Given the description of an element on the screen output the (x, y) to click on. 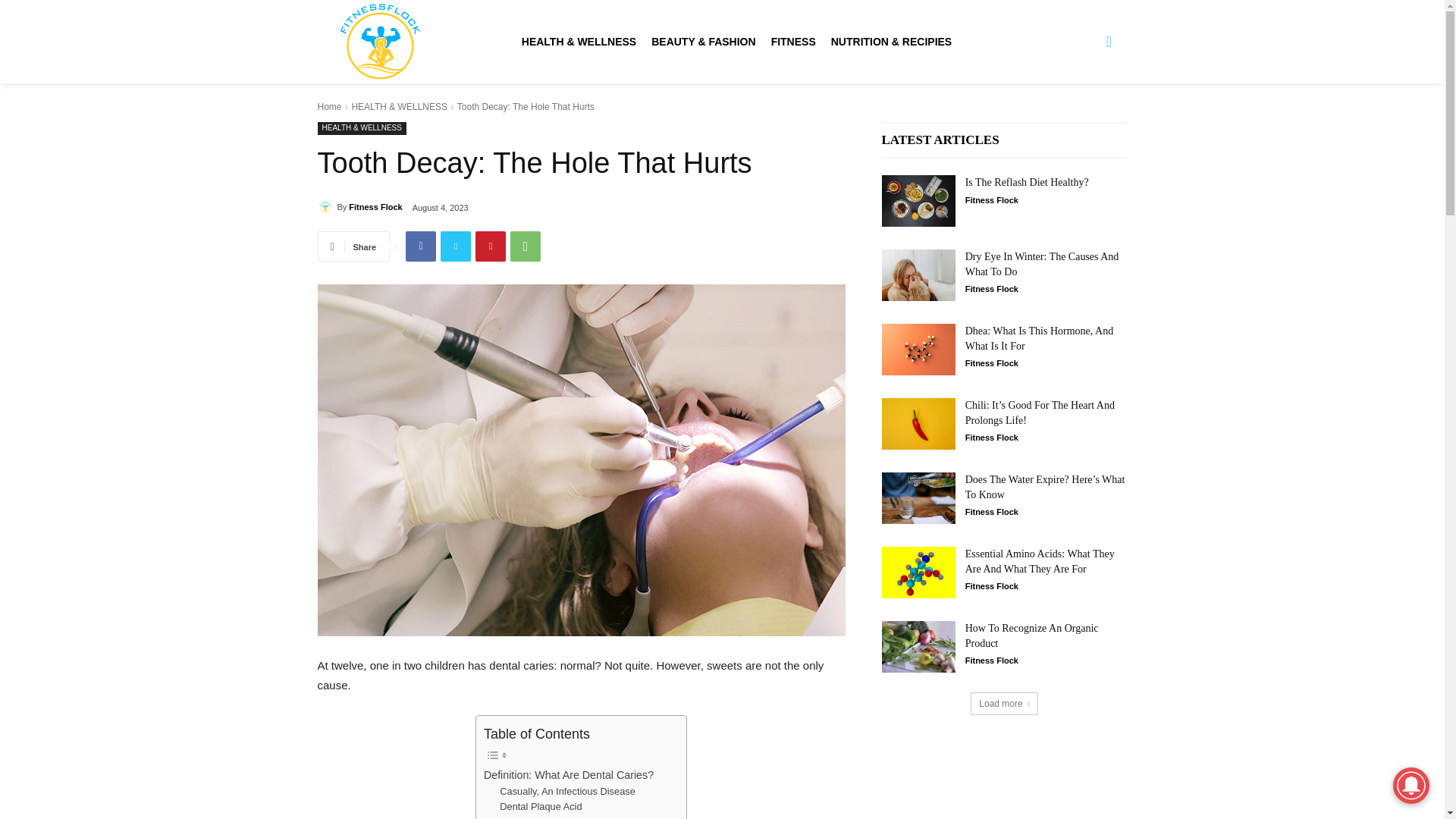
Fitness Flock (326, 206)
Pinterest (490, 245)
FITNESS (793, 41)
Definition: What Are Dental Caries? (568, 774)
Twitter (455, 245)
WhatsApp (525, 245)
Facebook (420, 245)
